Given the description of an element on the screen output the (x, y) to click on. 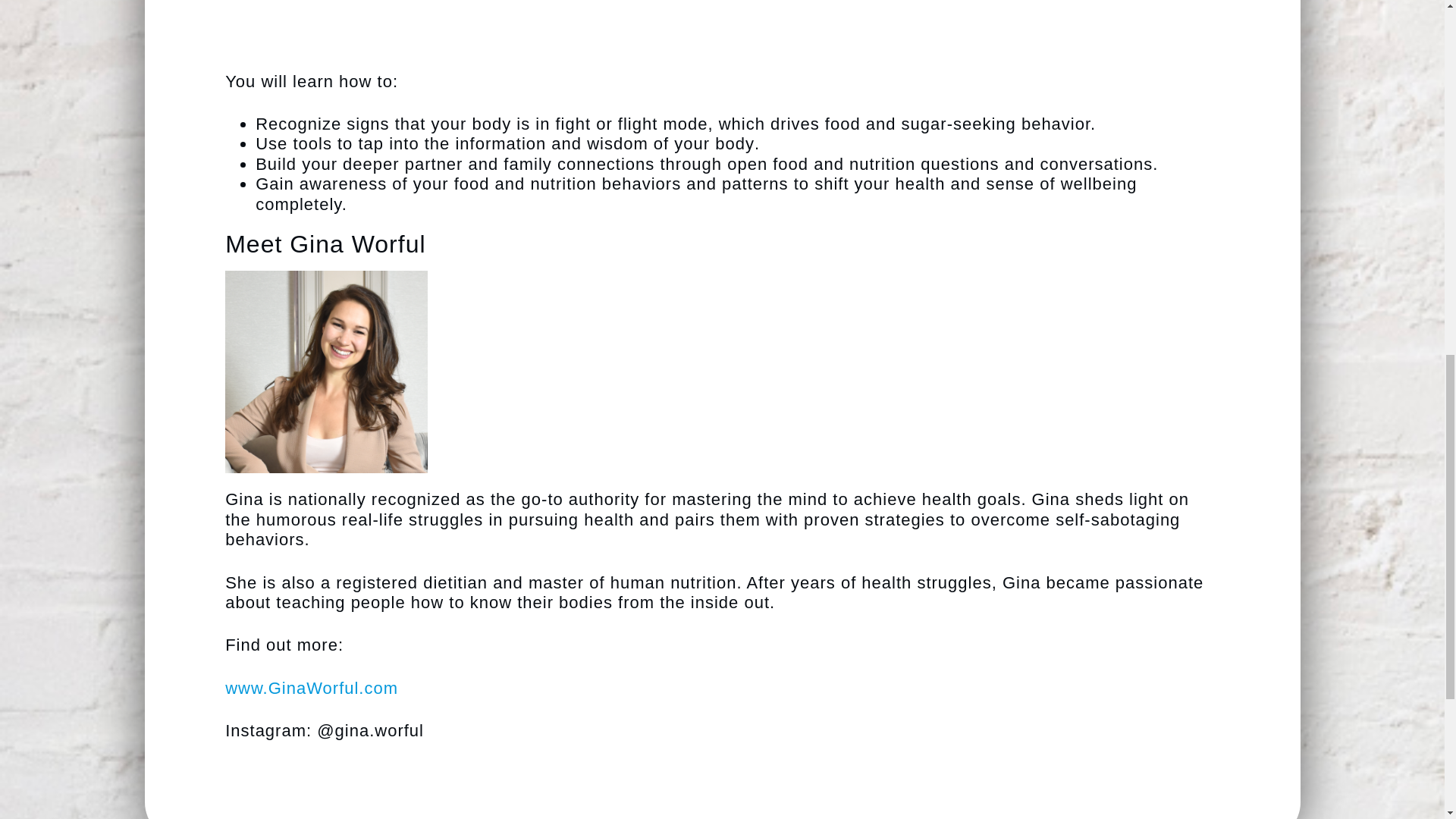
www.GinaWorful.com (311, 687)
